Given the description of an element on the screen output the (x, y) to click on. 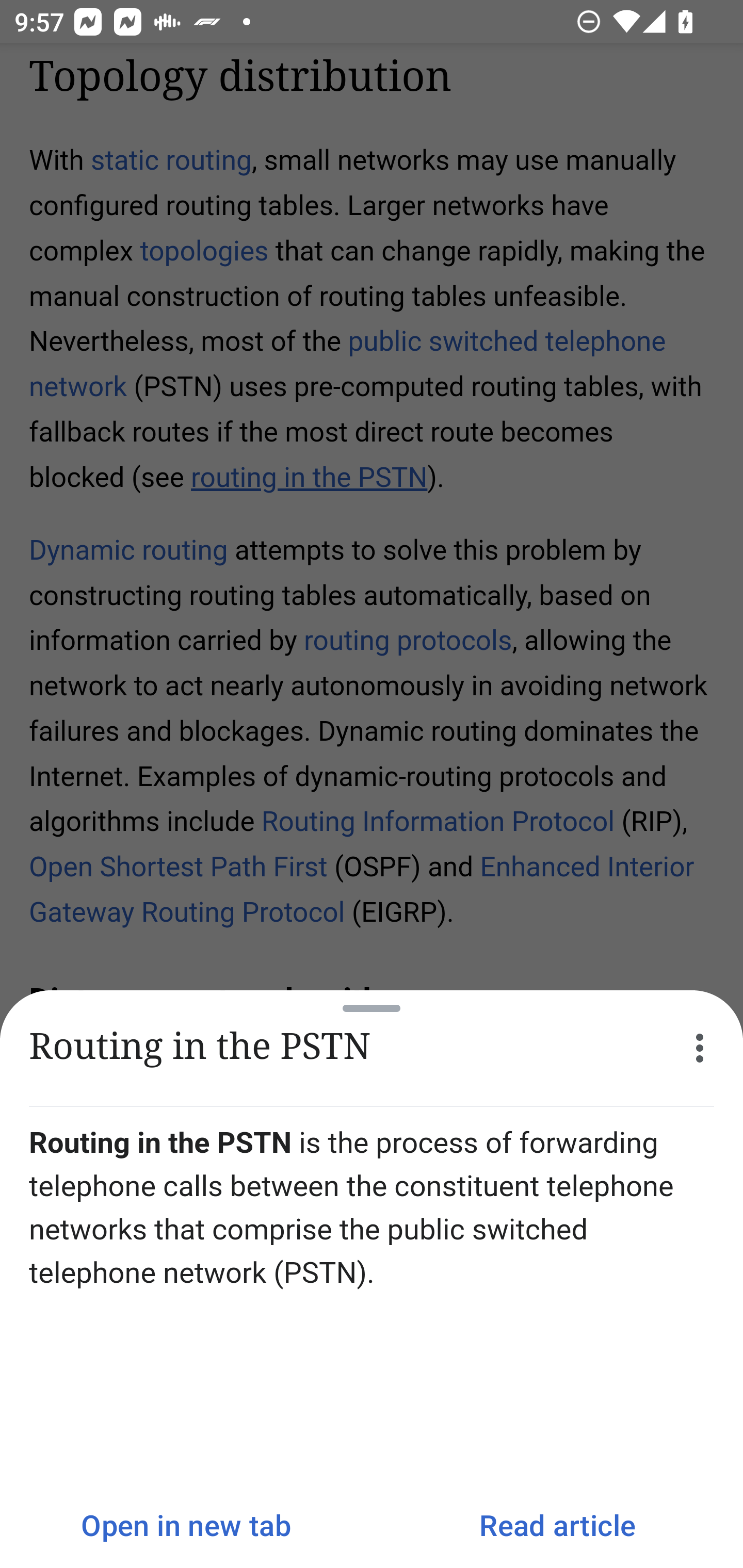
Routing in the PSTN More options (371, 1047)
More options (699, 1048)
Open in new tab (185, 1524)
Read article (557, 1524)
